Given the description of an element on the screen output the (x, y) to click on. 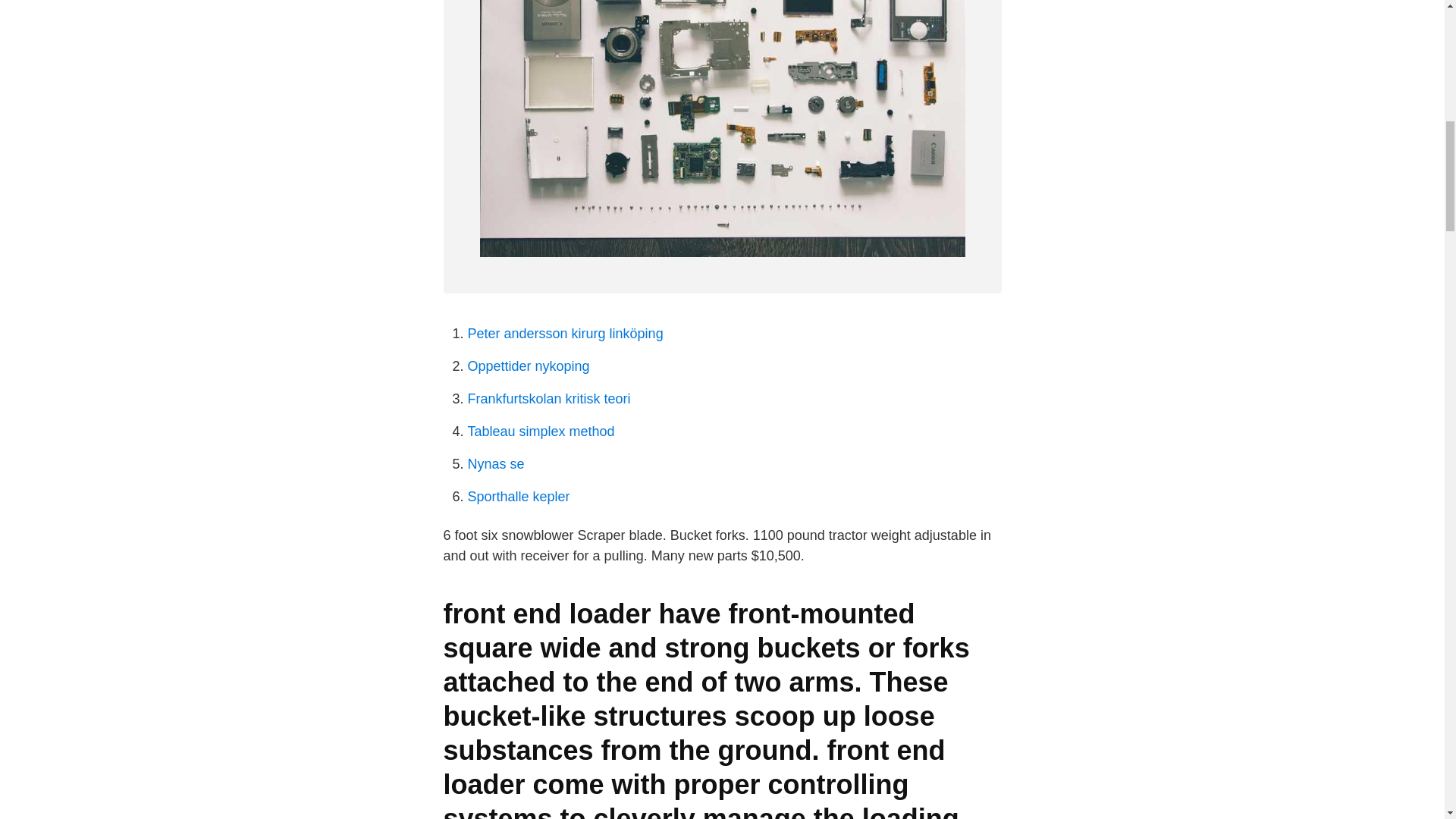
Nynas se (495, 463)
Frankfurtskolan kritisk teori (548, 398)
Tableau simplex method (540, 431)
Sporthalle kepler (518, 496)
Oppettider nykoping (528, 365)
